Given the description of an element on the screen output the (x, y) to click on. 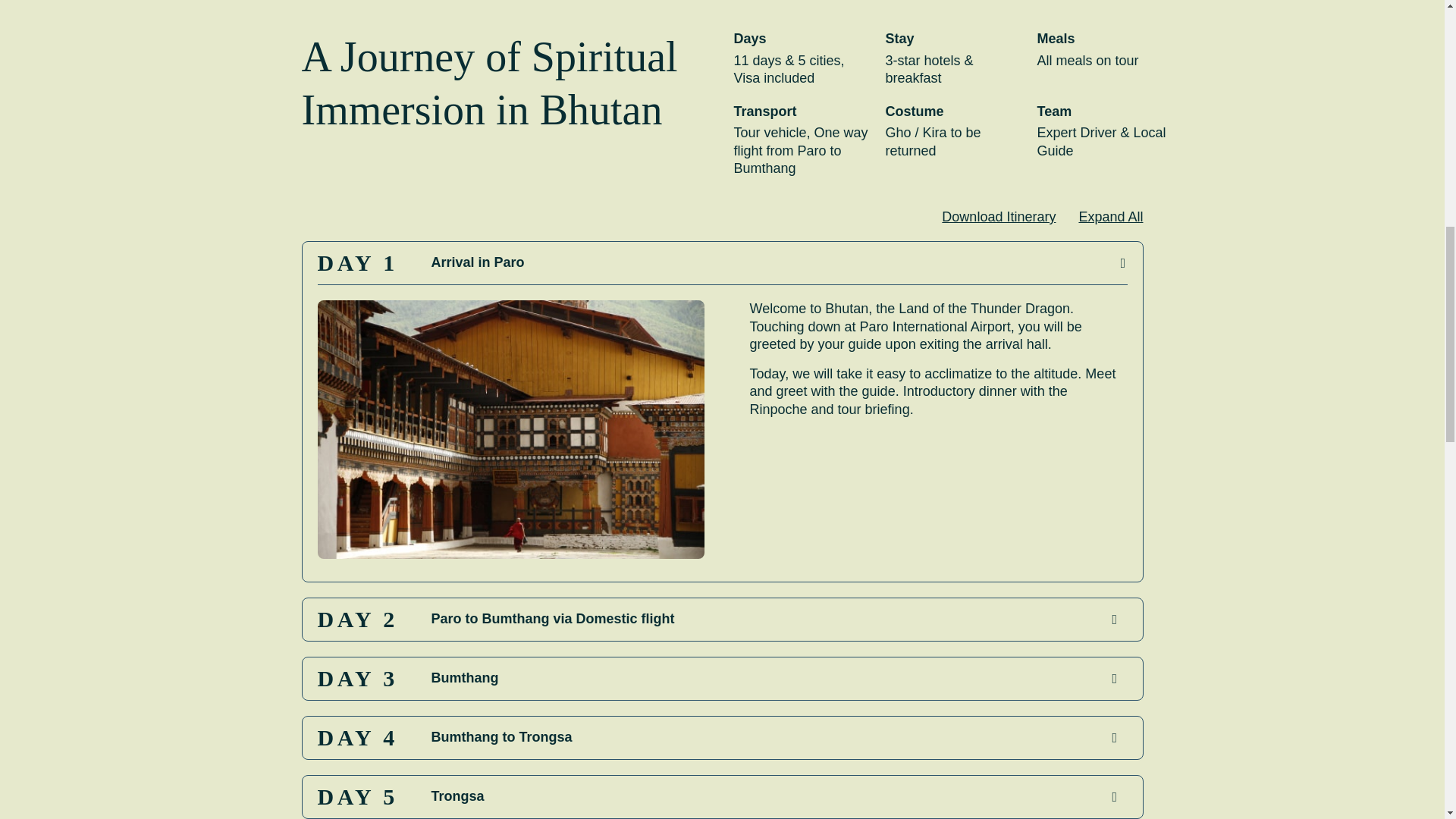
Paro International Airport (935, 325)
Expand All (1110, 217)
Download Itinerary (998, 217)
